Given the description of an element on the screen output the (x, y) to click on. 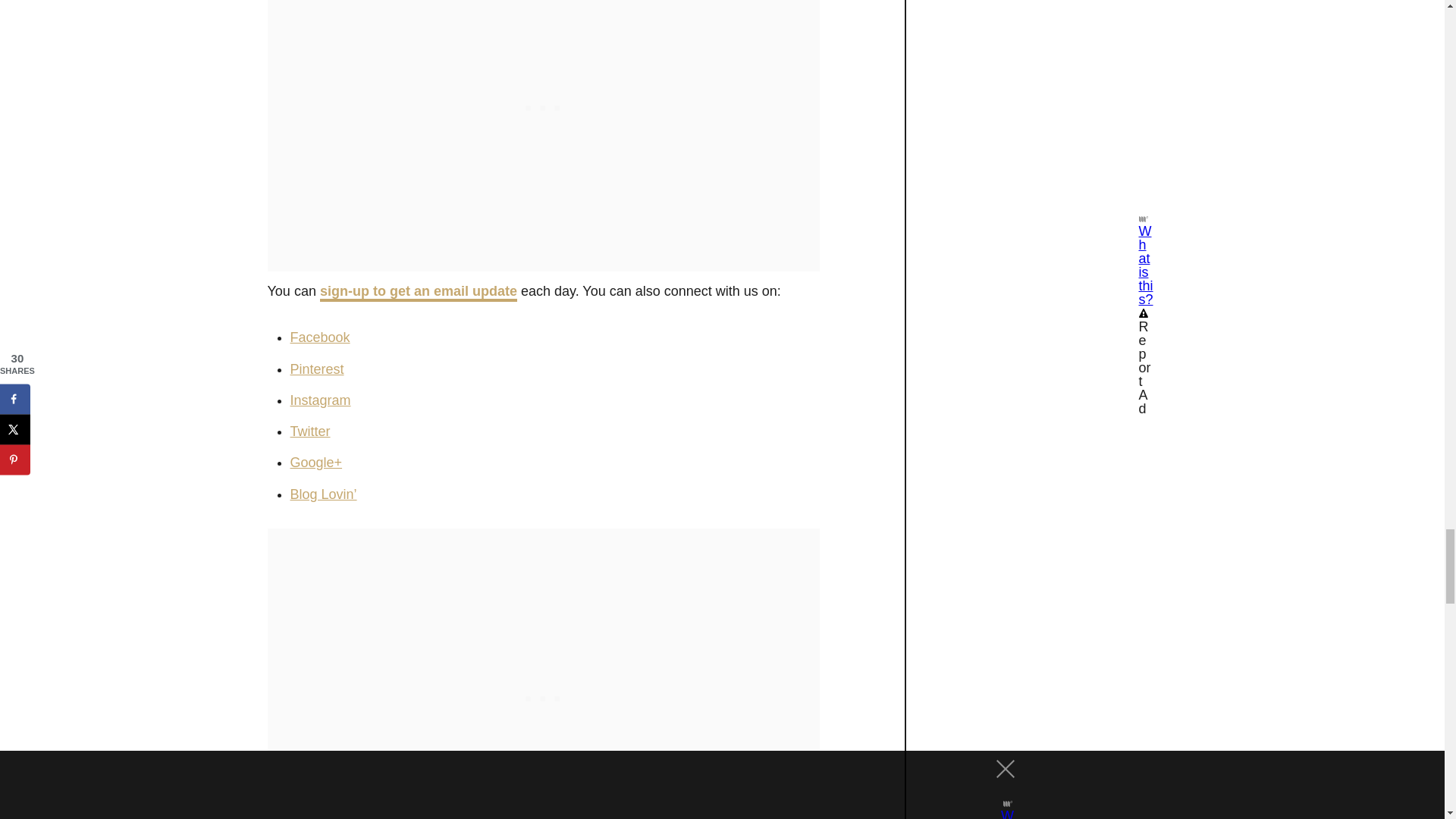
BlogLovin (322, 494)
subscribe by email (418, 292)
Pinterest (316, 368)
Twitter (309, 431)
Facebook (319, 337)
Instagram (319, 400)
